Given the description of an element on the screen output the (x, y) to click on. 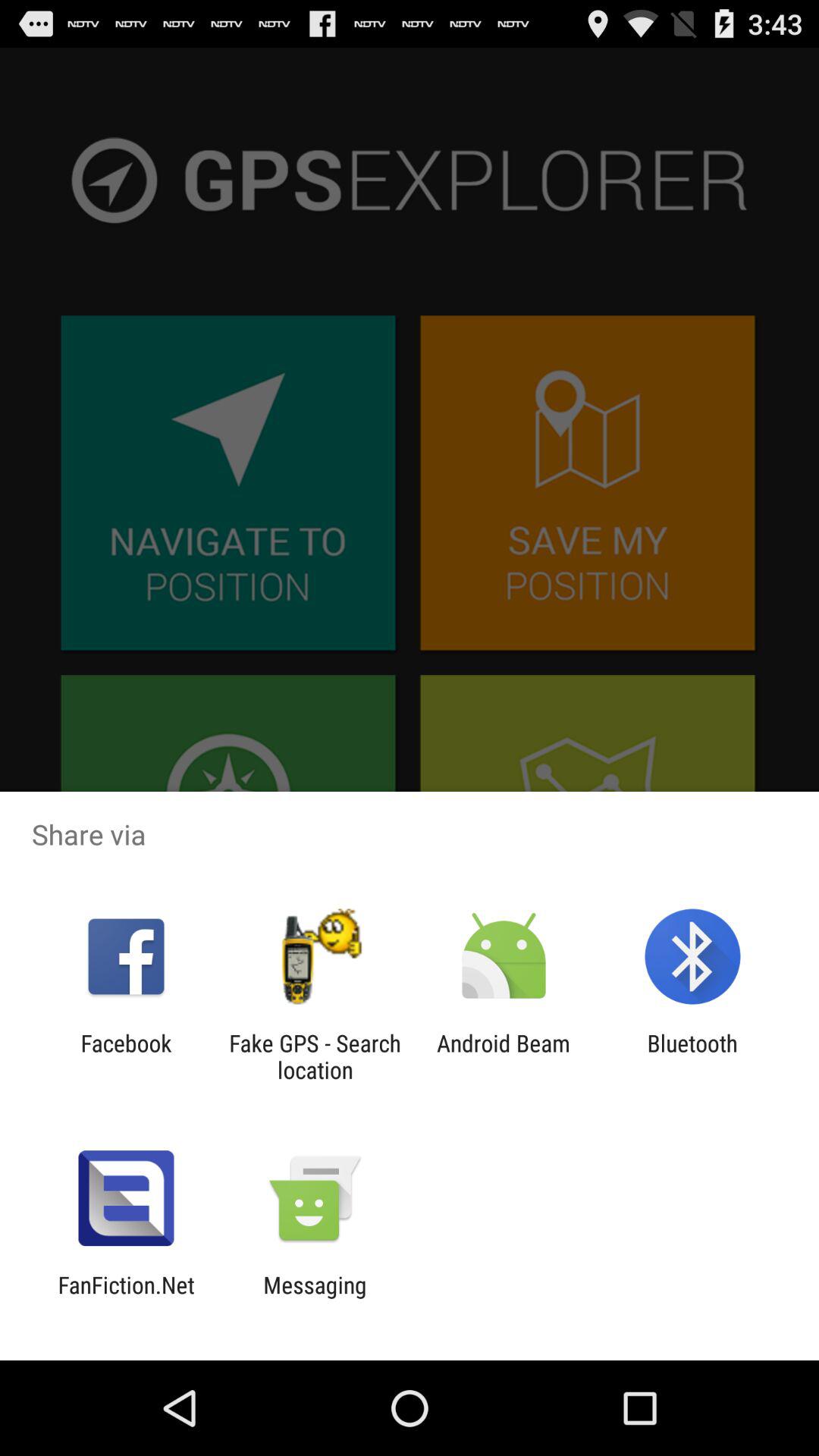
choose app next to fake gps search app (125, 1056)
